Given the description of an element on the screen output the (x, y) to click on. 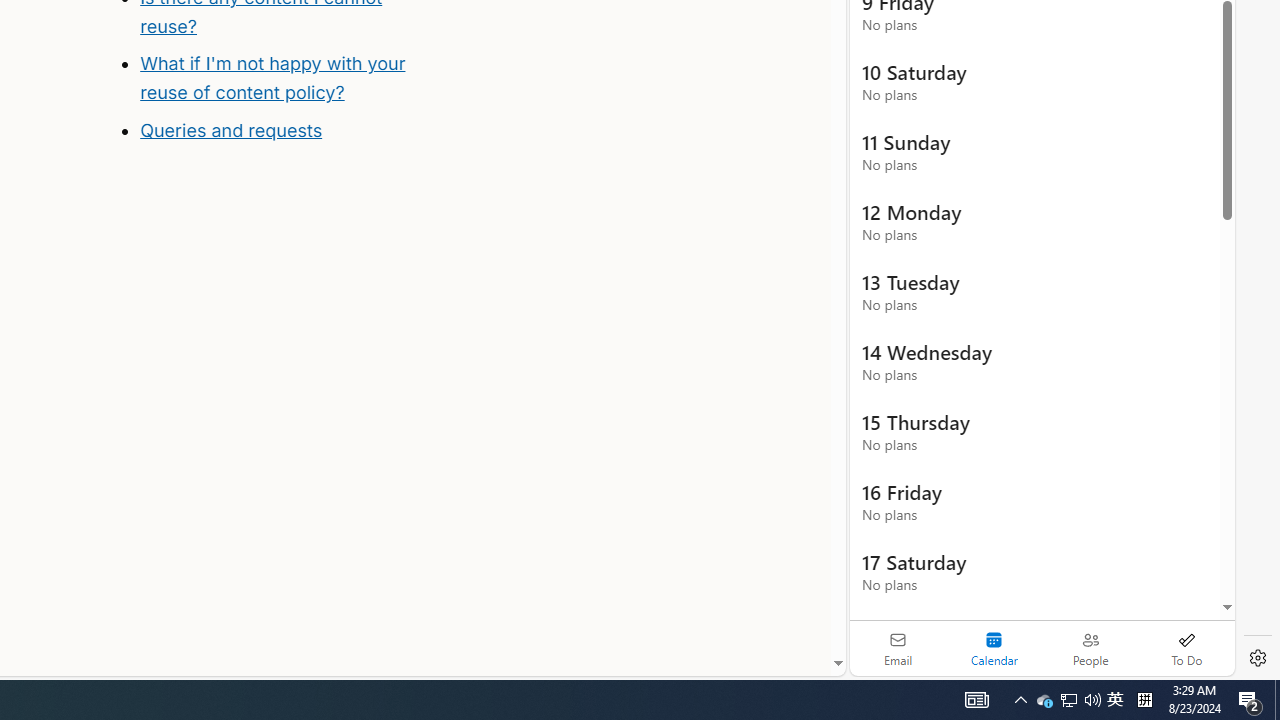
Is there any content I cannot reuse? (298, 70)
Queries and requests (230, 130)
Selected calendar module. Date today is 22 (994, 648)
Email (898, 648)
To Do (1186, 648)
People (1090, 648)
